Given the description of an element on the screen output the (x, y) to click on. 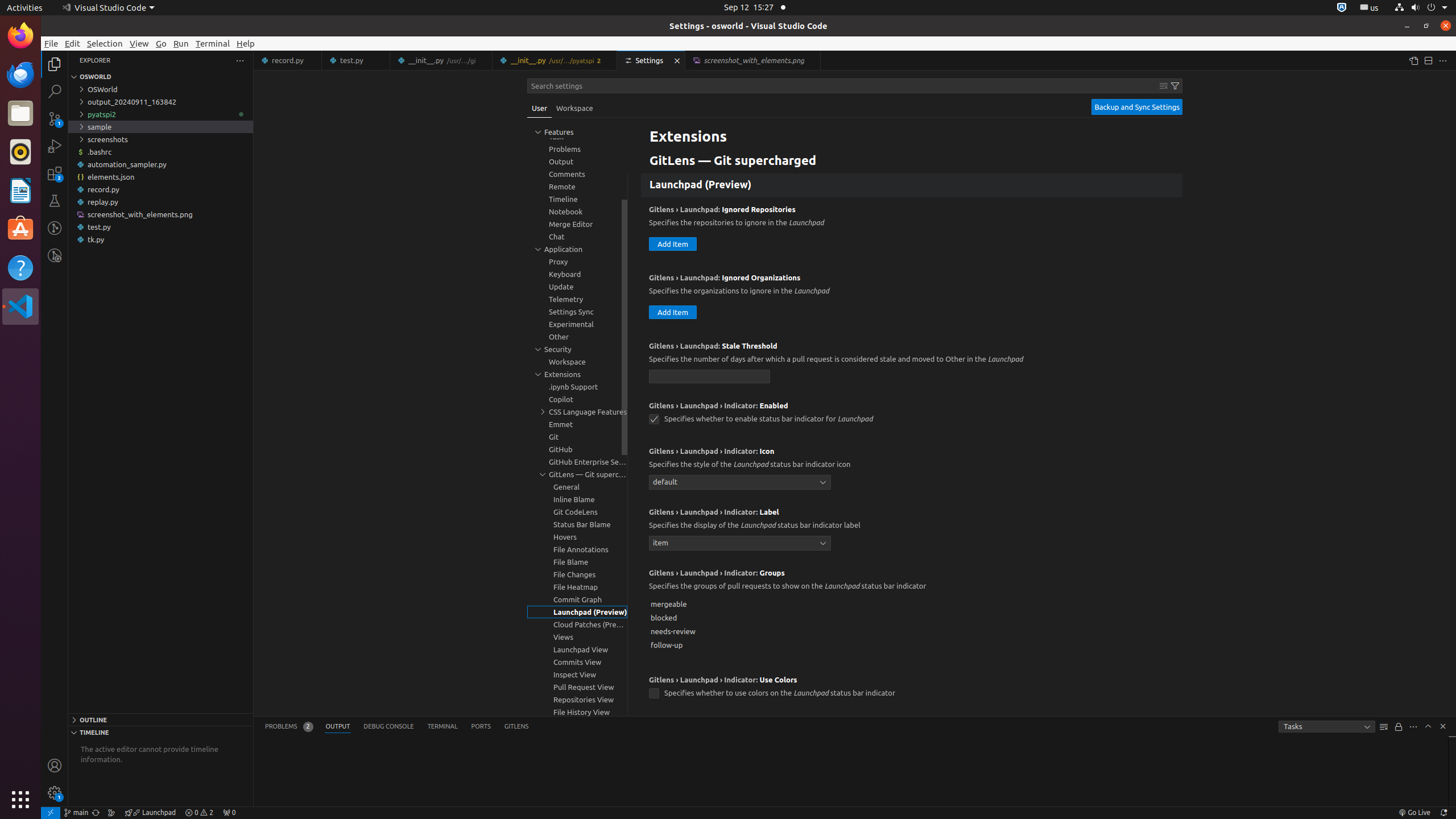
GitHub Enterprise Server Authentication Provider, group Element type: tree-item (577, 461)
replay.py Element type: tree-item (160, 201)
Settings Element type: page-tab (651, 60)
